Given the description of an element on the screen output the (x, y) to click on. 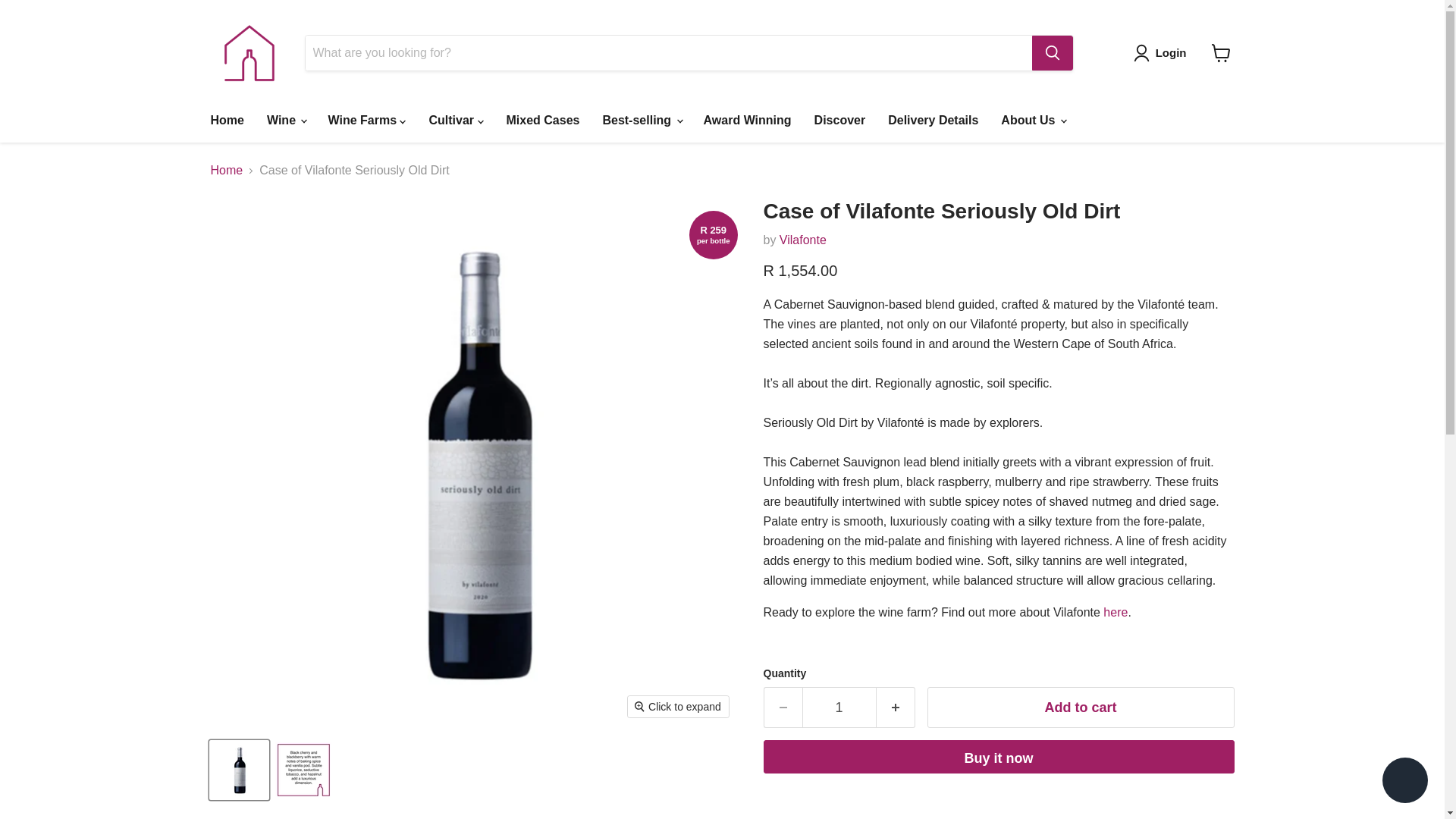
Home (226, 120)
View cart (1221, 52)
Shopify online store chat (1404, 781)
Vilafonte (802, 239)
Vilafonte Wine Farm (1114, 612)
1 (839, 707)
Login (1163, 53)
